Given the description of an element on the screen output the (x, y) to click on. 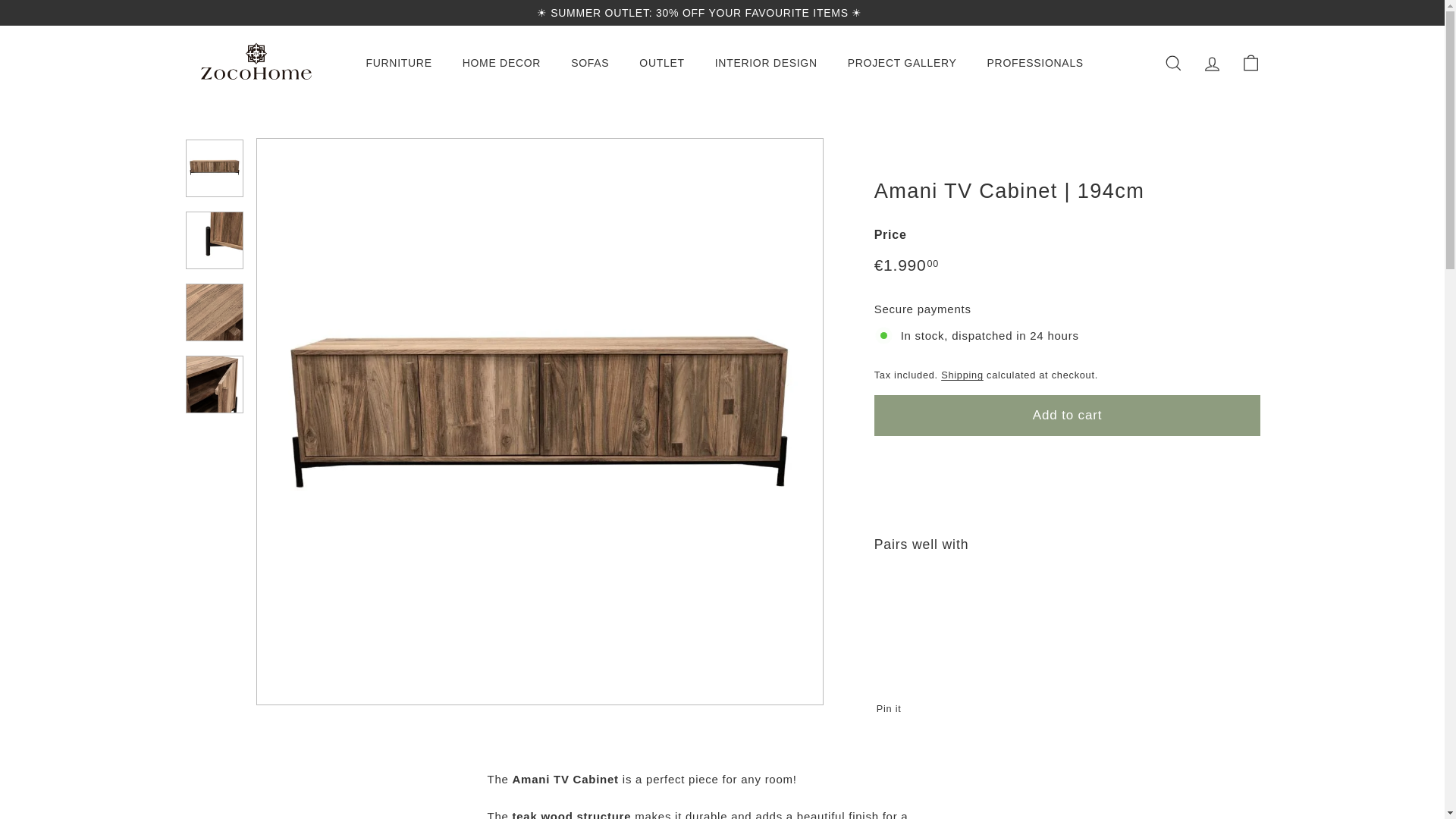
TikTok (1256, 12)
Pin on Pinterest (893, 708)
Zoco Home  on Pinterest (1248, 12)
YouTube (1240, 12)
Zoco Home  on TikTok (1256, 12)
Instagram (1226, 12)
Zoco Home  on YouTube (1240, 12)
Facebook (1233, 12)
Pinterest (1248, 12)
